Given the description of an element on the screen output the (x, y) to click on. 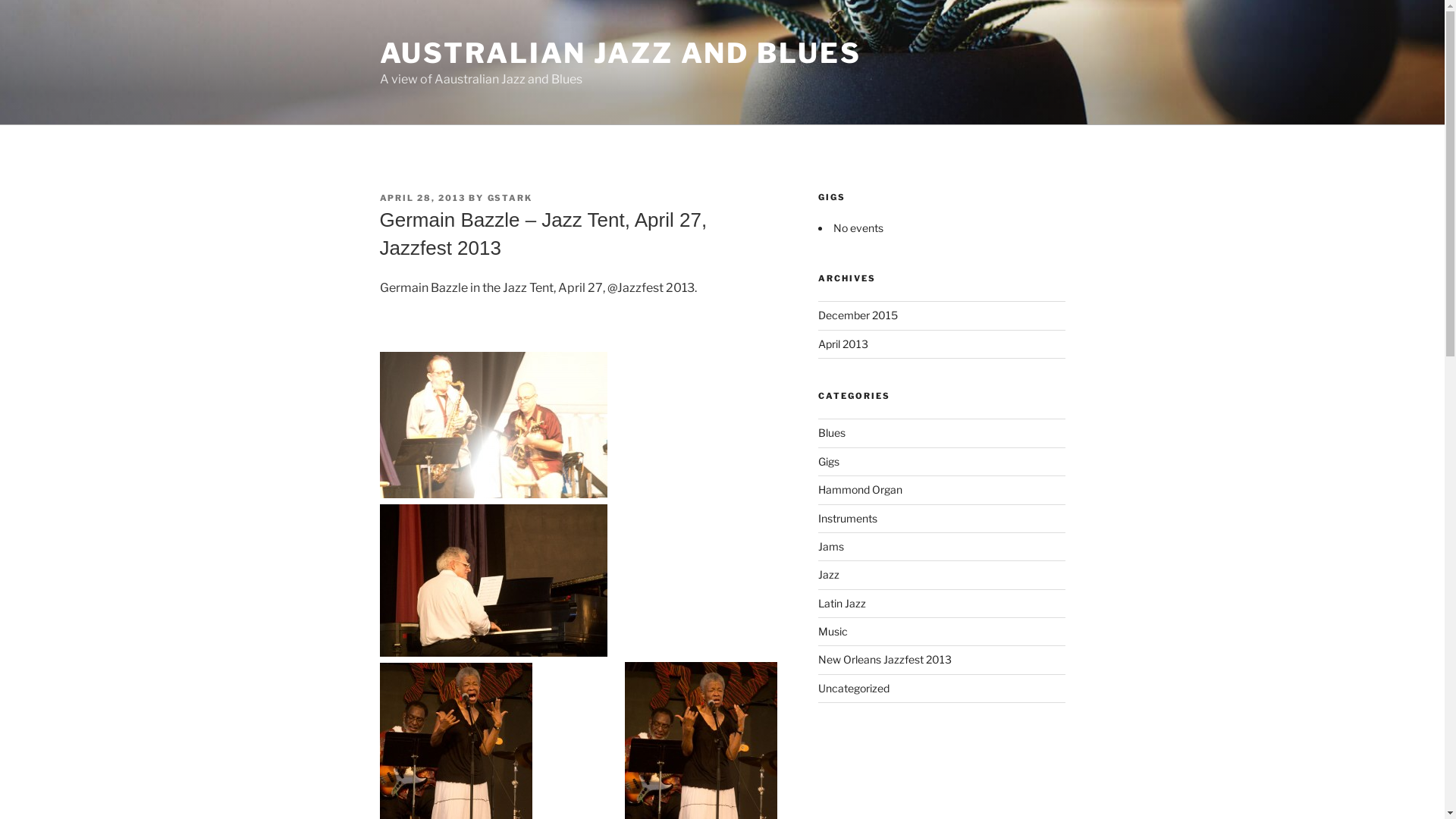
Latin Jazz Element type: text (842, 602)
AUSTRALIAN JAZZ AND BLUES Element type: text (619, 52)
APRIL 28, 2013 Element type: text (422, 197)
December 2015 Element type: text (857, 314)
Instruments Element type: text (847, 517)
New Orleans Jazzfest 2013 Element type: text (884, 658)
Music Element type: text (832, 630)
Uncategorized Element type: text (853, 687)
GSTARK Element type: text (509, 197)
Hammond Organ Element type: text (860, 489)
Gigs Element type: text (828, 461)
Jams Element type: text (831, 545)
Blues Element type: text (831, 432)
April 2013 Element type: text (843, 343)
Jazz Element type: text (828, 573)
